Given the description of an element on the screen output the (x, y) to click on. 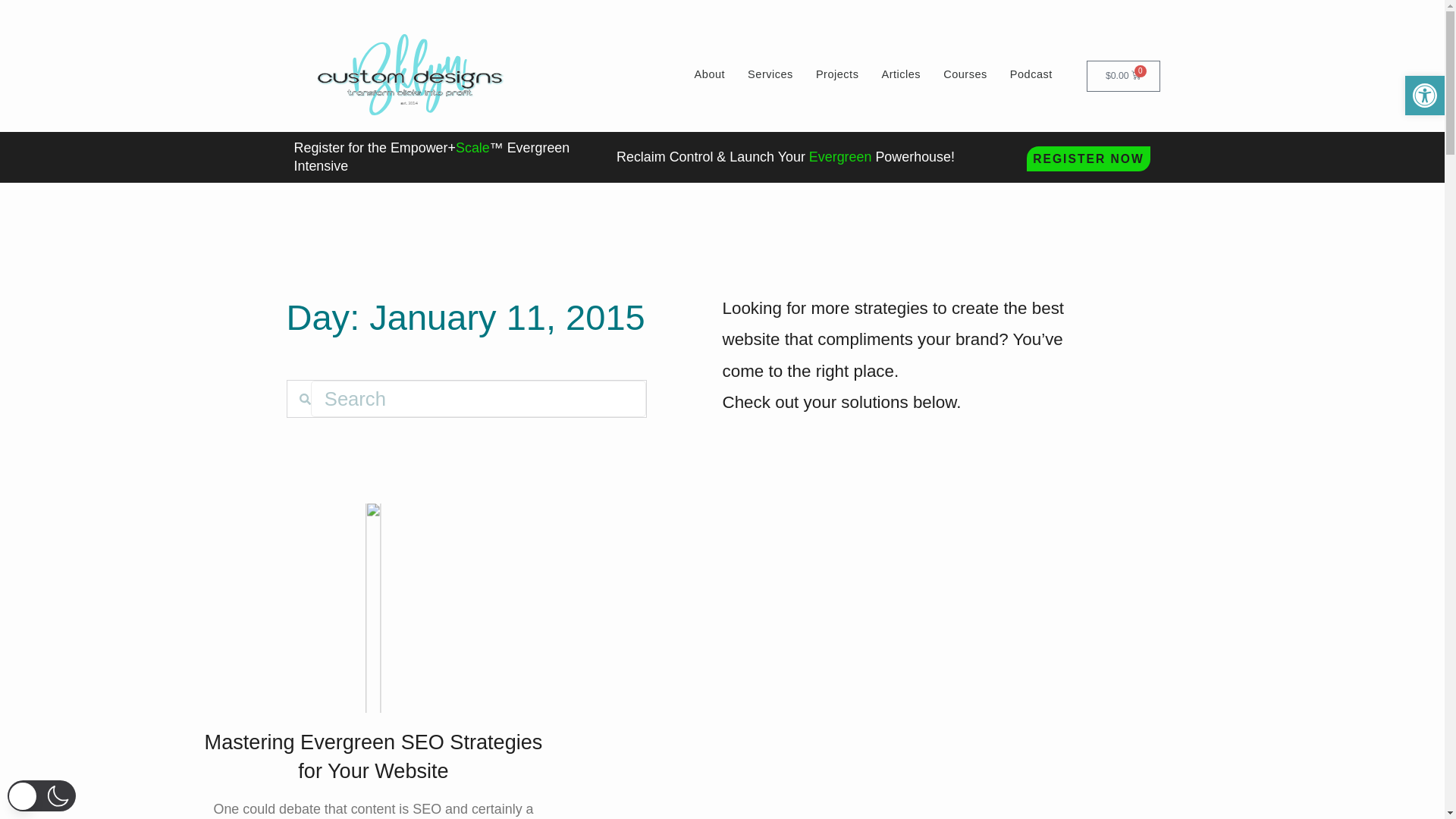
Projects (837, 73)
Articles (900, 73)
Services (770, 73)
REGISTER NOW (1088, 157)
Courses (807, 73)
About (466, 387)
Podcast (964, 73)
Mastering Evergreen SEO Strategies for Your Website (709, 73)
Day: January 11, 2015 (1031, 73)
REGISTER NOW (374, 756)
